Given the description of an element on the screen output the (x, y) to click on. 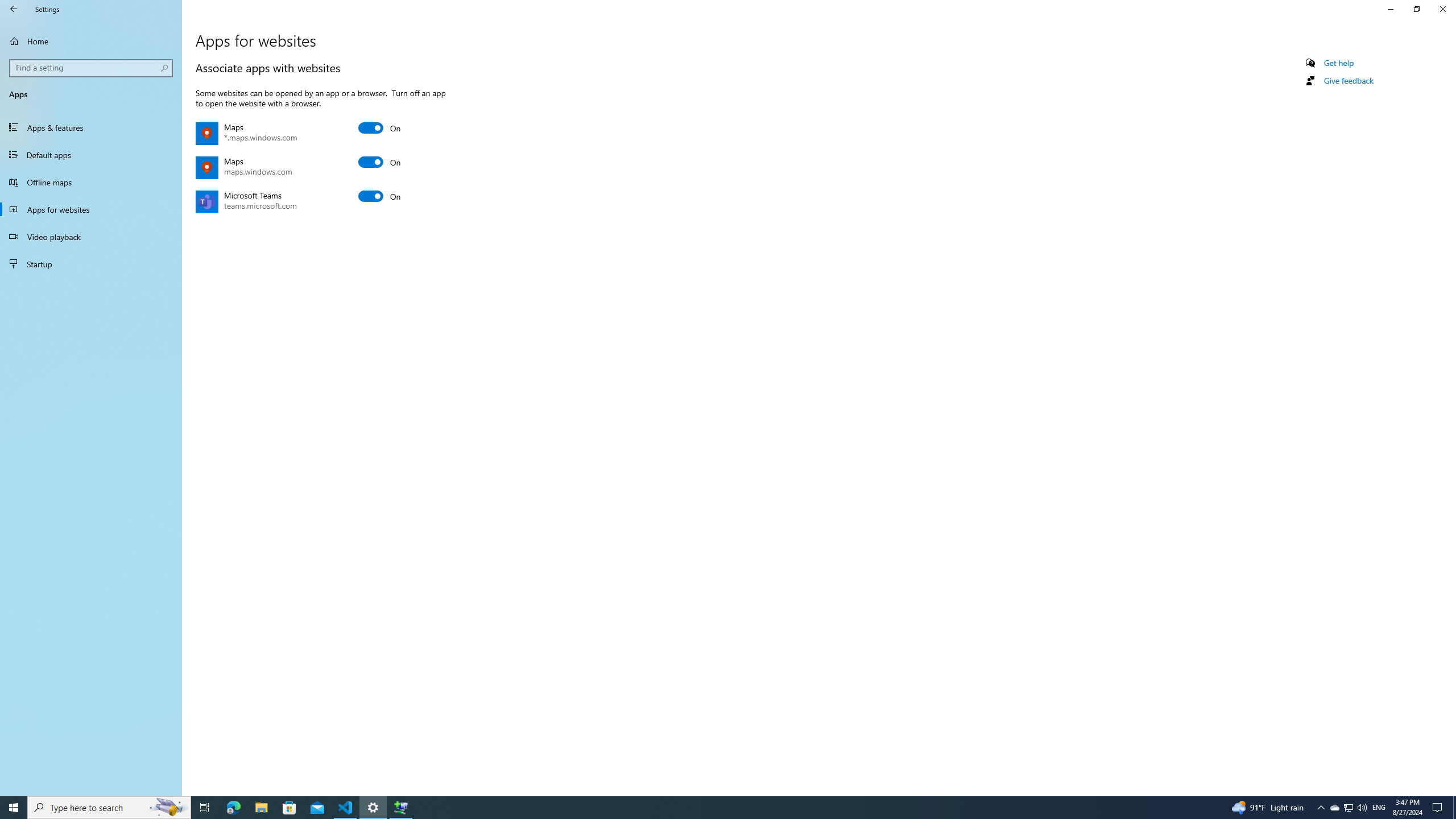
Extensible Wizards Host Process - 1 running window (400, 807)
Apps & features (91, 126)
Give feedback (1348, 80)
Search box, Find a setting (91, 67)
